Given the description of an element on the screen output the (x, y) to click on. 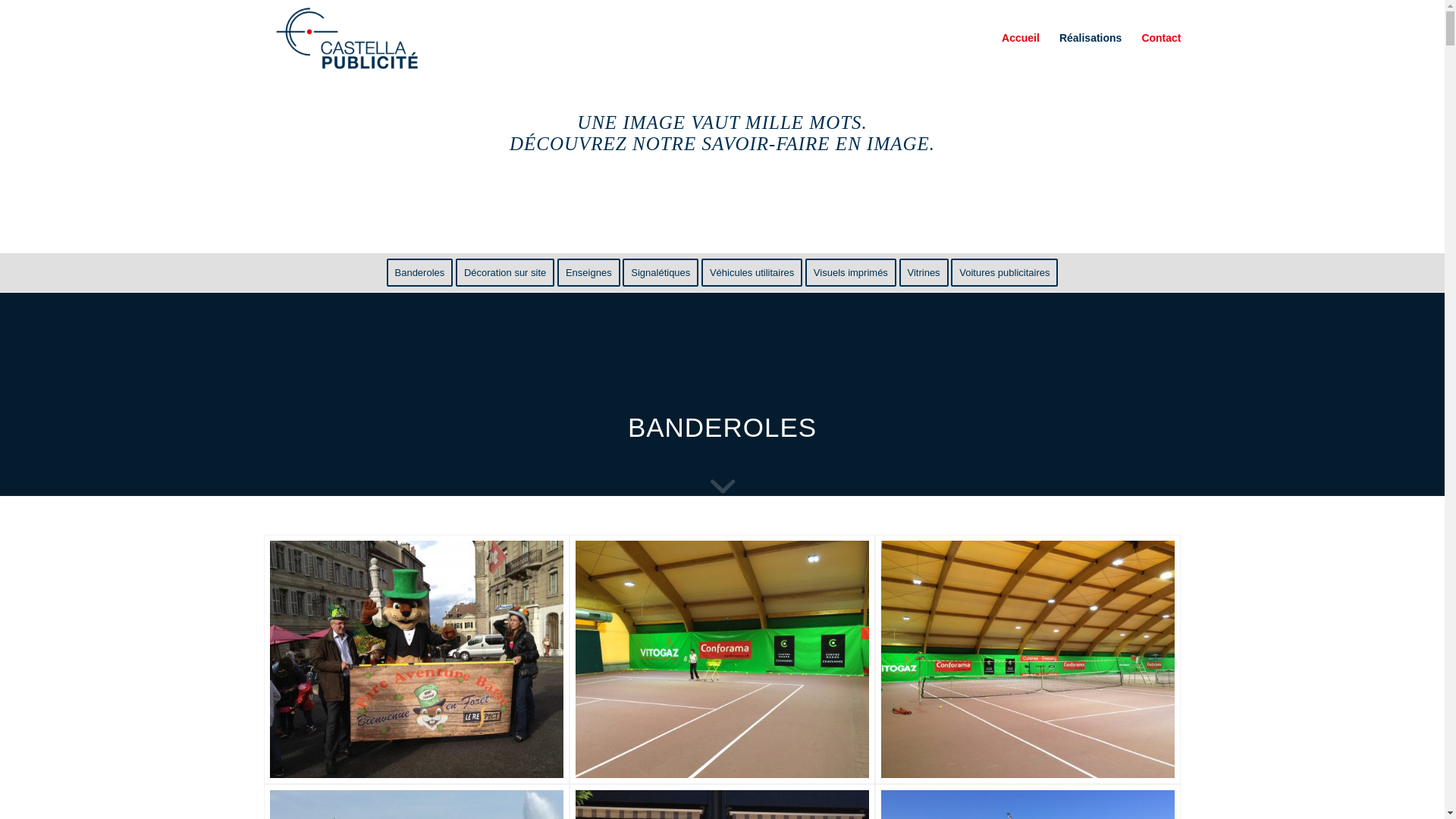
Vitrines Element type: text (923, 272)
Banderoles Element type: text (419, 272)
Enseignes Element type: text (588, 272)
Contact Element type: text (1155, 37)
Accueil Element type: text (1020, 37)
Voitures publicitaires Element type: text (1003, 272)
